Given the description of an element on the screen output the (x, y) to click on. 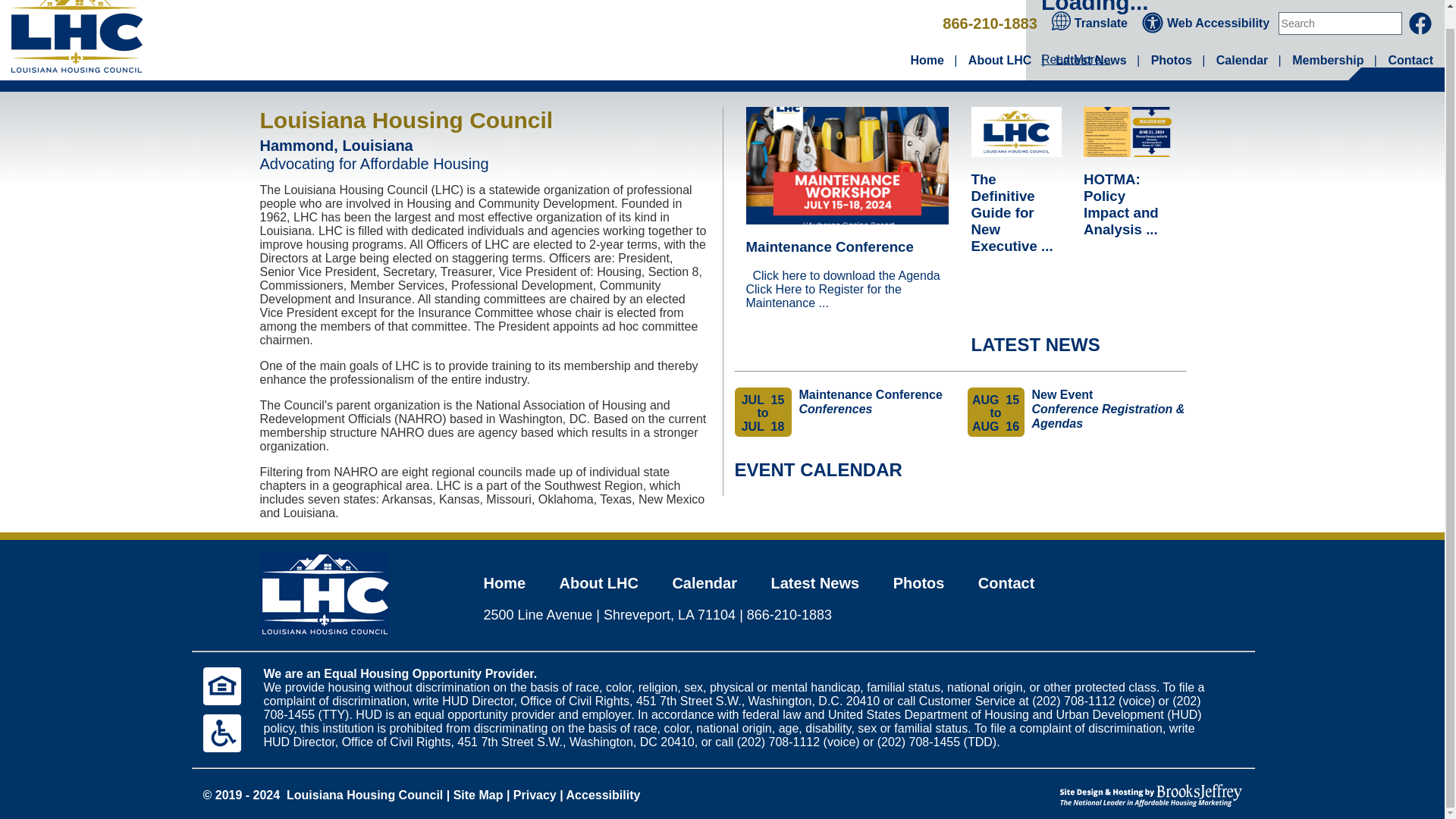
866-210-1883 (989, 23)
About LHC (1000, 60)
Calendar (1241, 60)
Photos (1171, 60)
Web Accessibility (1206, 22)
Home (926, 60)
Latest News (1090, 60)
Translate (1091, 22)
